Given the description of an element on the screen output the (x, y) to click on. 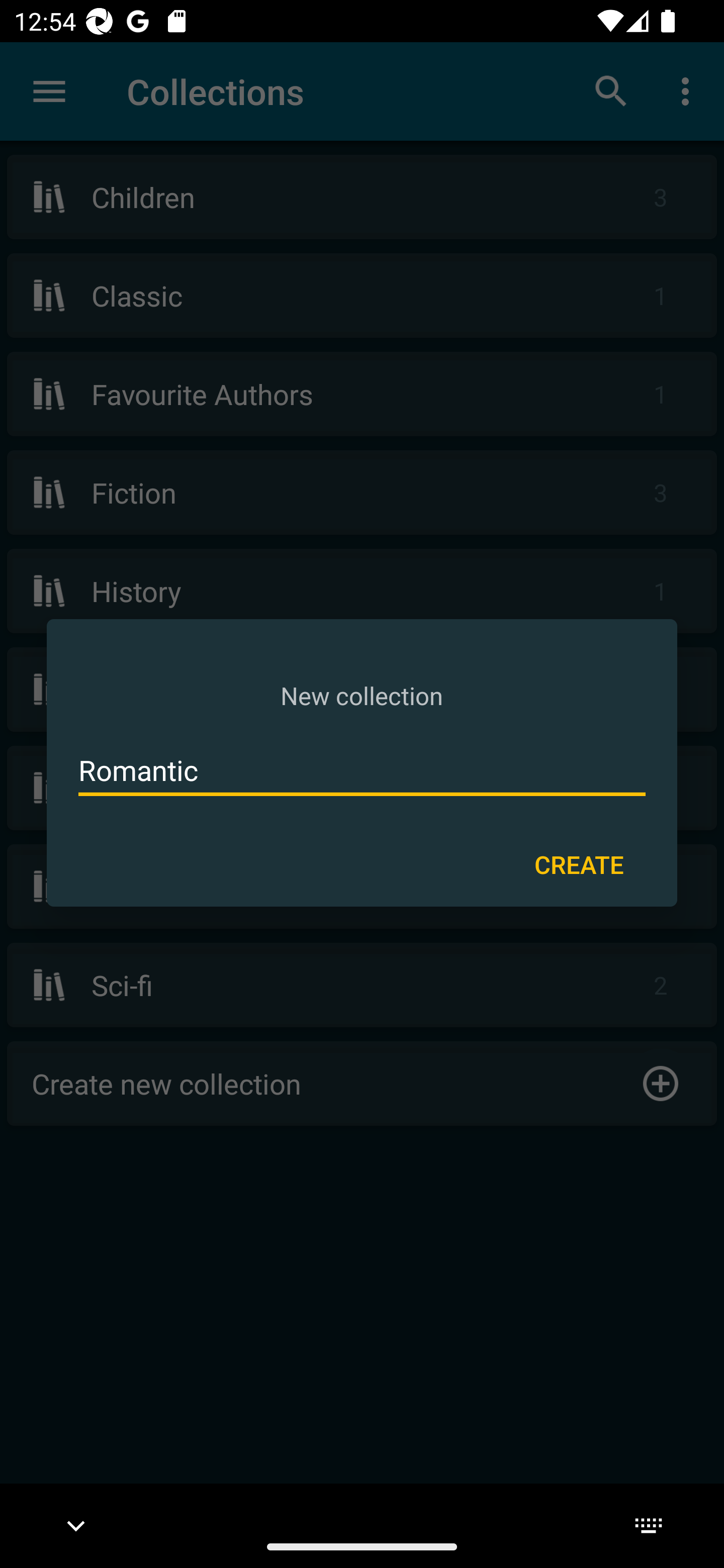
Romantic (361, 770)
CREATE (578, 863)
